Given the description of an element on the screen output the (x, y) to click on. 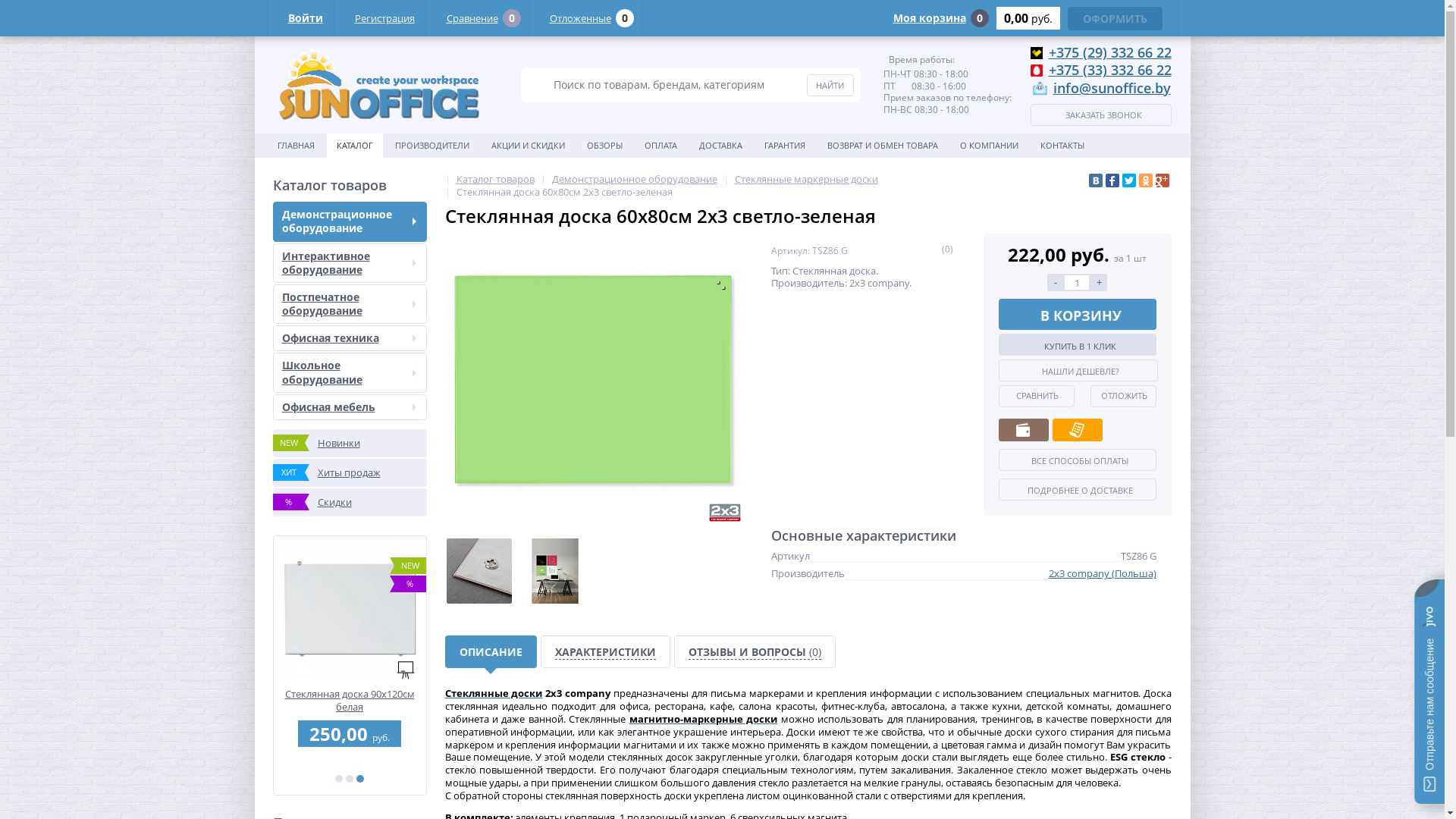
1 Element type: hover (338, 778)
+ Element type: text (1098, 282)
2 Element type: hover (349, 778)
mail.png Element type: hover (1038, 88)
3 Element type: hover (360, 778)
logo7.png Element type: hover (378, 84)
- Element type: text (1055, 282)
SoftBoard Element type: hover (404, 670)
NEW
% Element type: text (197, 610)
Google Plus Element type: hover (1162, 180)
Facebook Element type: hover (1112, 180)
Twitter Element type: hover (1128, 180)
info@sunoffice.by Element type: text (1111, 87)
+375 (29) 332 66 22 Element type: text (1109, 52)
+375 (33) 332 66 22 Element type: text (1109, 69)
